Given the description of an element on the screen output the (x, y) to click on. 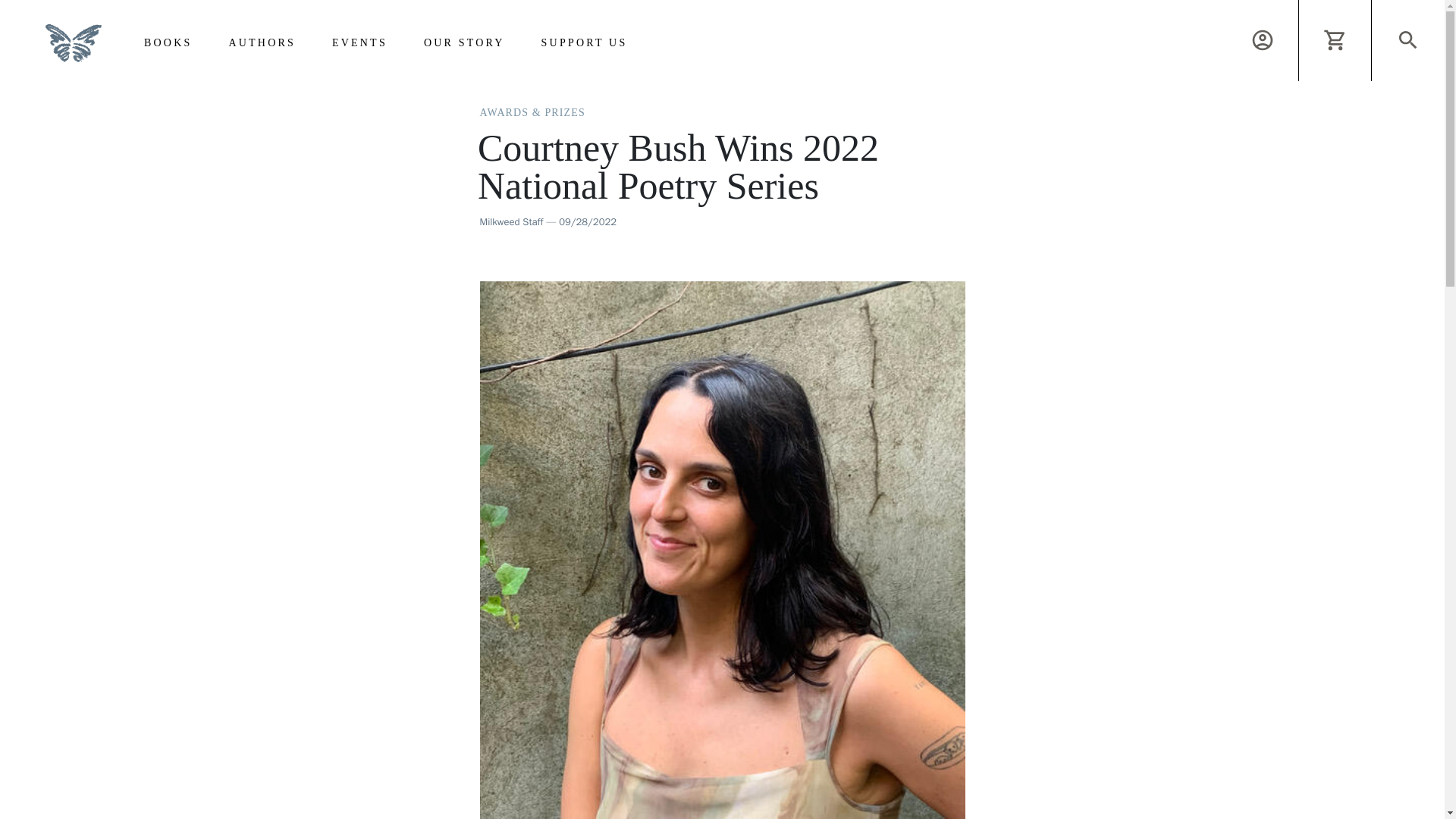
EVENTS (359, 39)
Log in (1261, 40)
OUR STORY (464, 39)
SUPPORT US (584, 39)
AUTHORS (261, 39)
BOOKS (168, 39)
